Given the description of an element on the screen output the (x, y) to click on. 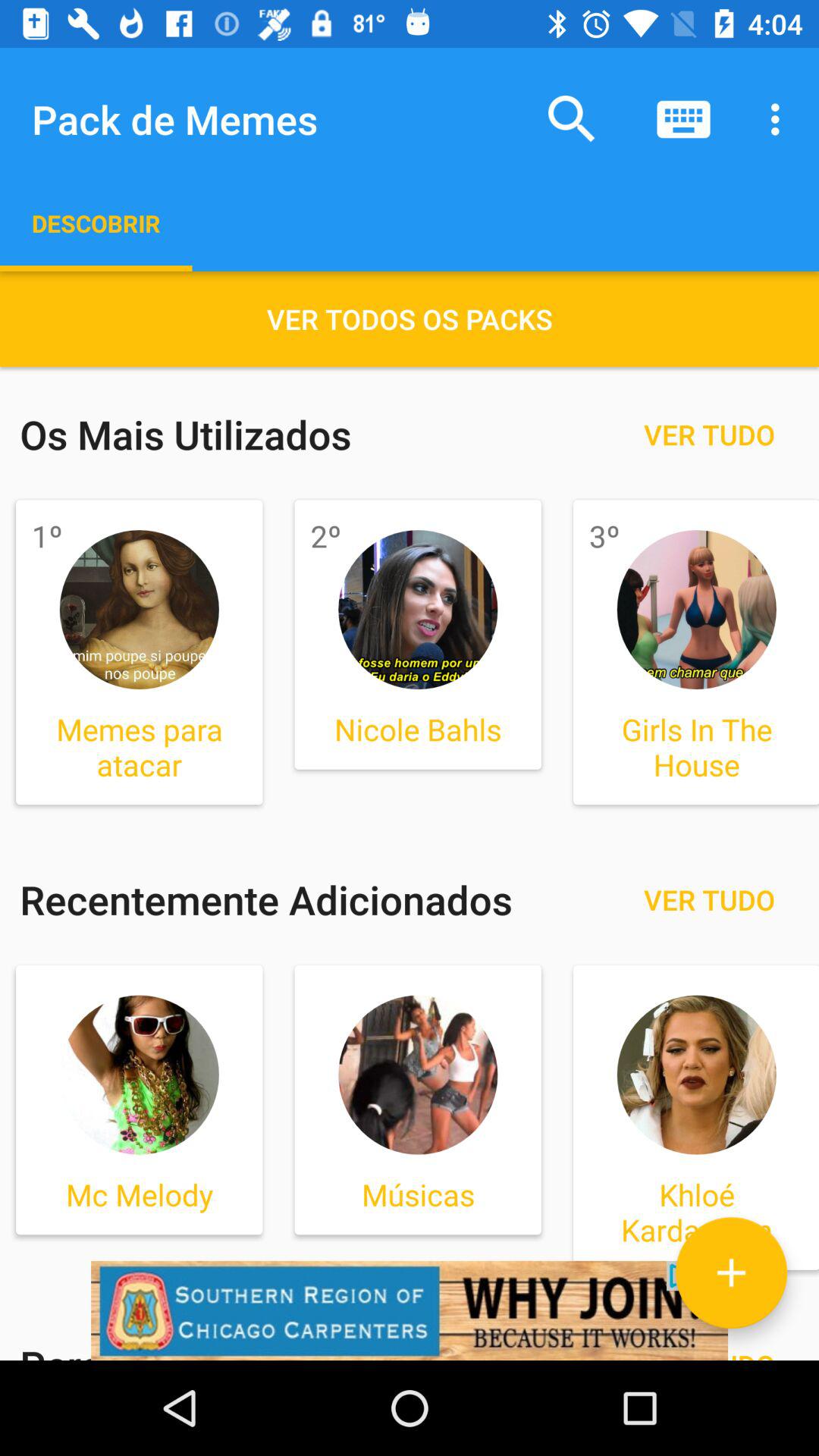
advertising (409, 1310)
